Given the description of an element on the screen output the (x, y) to click on. 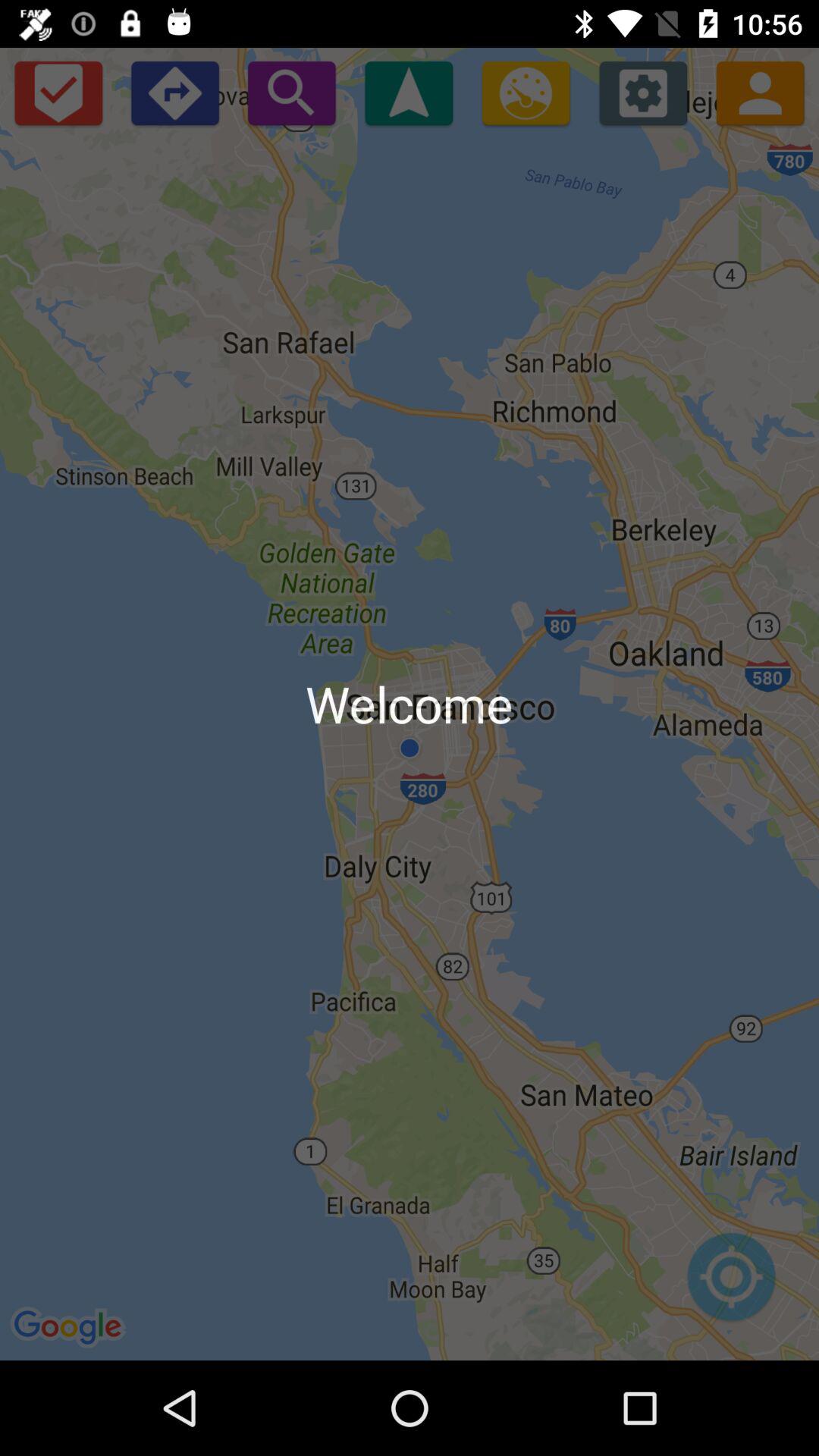
click to start (408, 92)
